Given the description of an element on the screen output the (x, y) to click on. 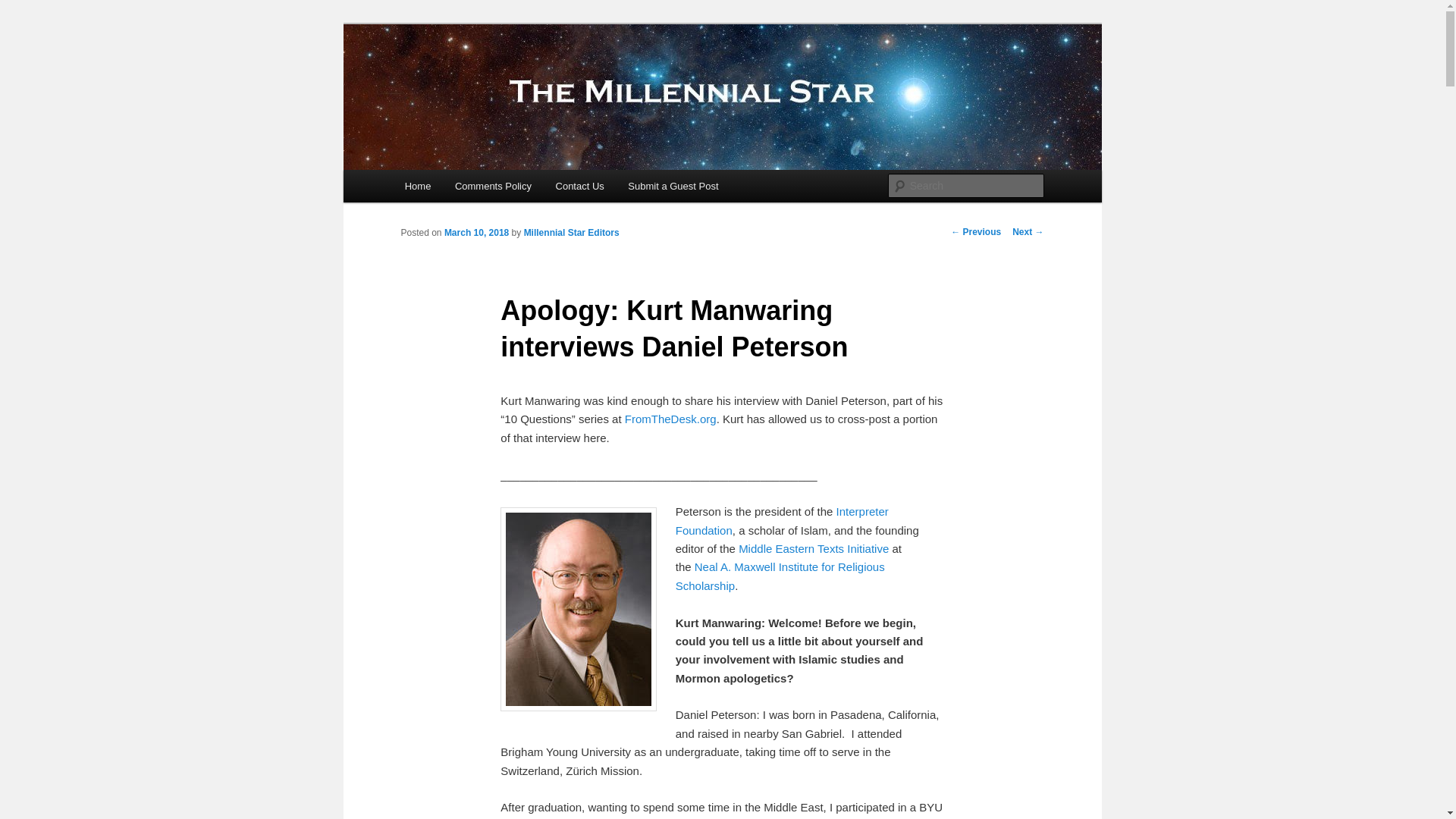
Interpreter Foundation (781, 520)
Millennial Star Editors (572, 232)
FromTheDesk.org (670, 418)
Contact Us (579, 185)
9:21 am (476, 232)
Middle Eastern Texts Initiative (813, 548)
Submit a Guest Post (672, 185)
The Millennial Star (500, 78)
Comments Policy (492, 185)
March 10, 2018 (476, 232)
